Given the description of an element on the screen output the (x, y) to click on. 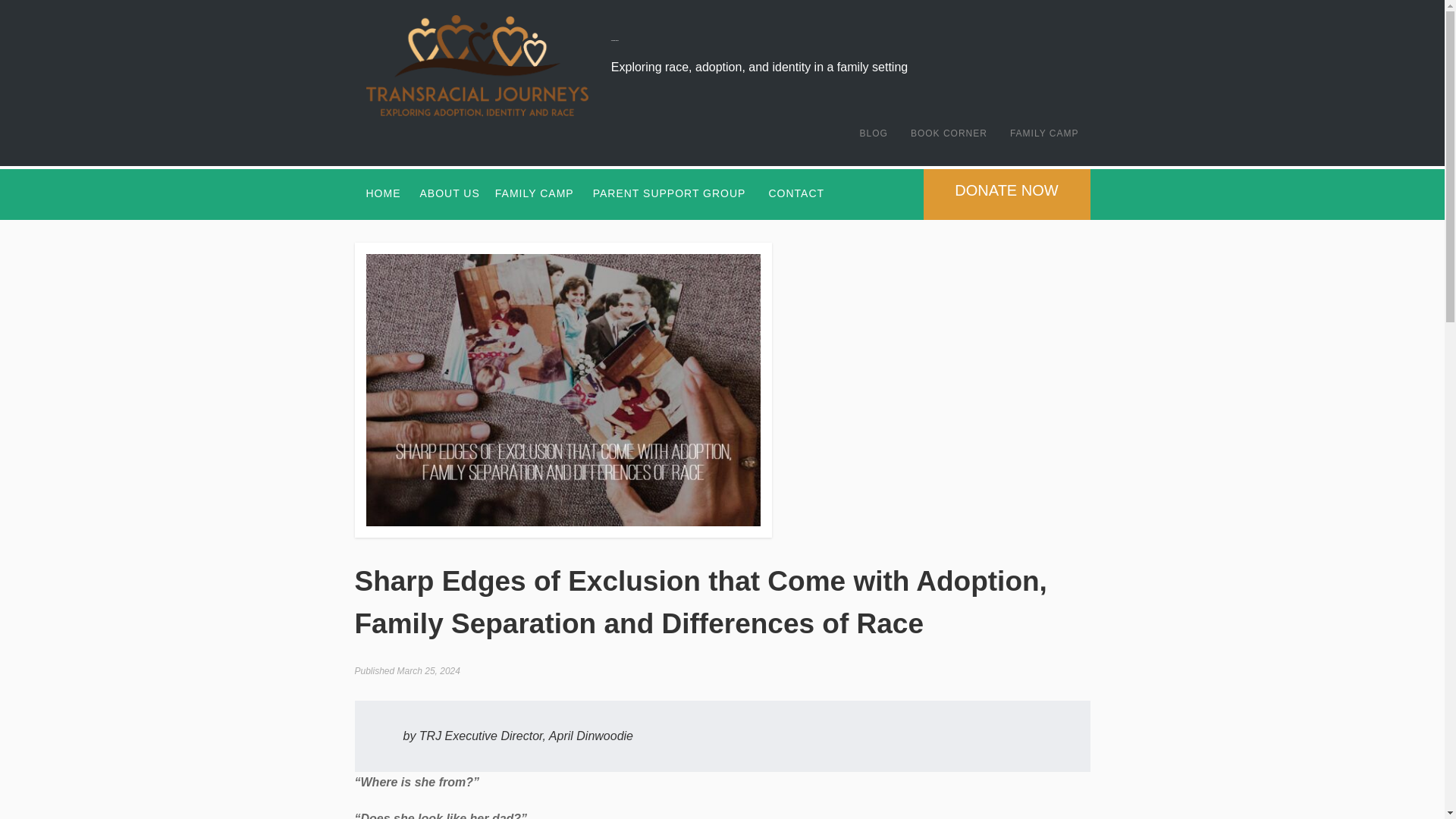
BLOG (873, 133)
FAQS (530, 261)
MISSION (445, 227)
FAMILY CAMP (533, 193)
PARENT SUPPORT GROUP (668, 193)
CONTACT (796, 193)
BOOK CORNER (948, 133)
HOME (383, 193)
FAMILY CAMP (1044, 133)
March 25, 2024 (428, 670)
SUPPORT US (445, 295)
EXECUTIVE DIRECTOR AND BOARD OF DIRECTORS (445, 261)
